Given the description of an element on the screen output the (x, y) to click on. 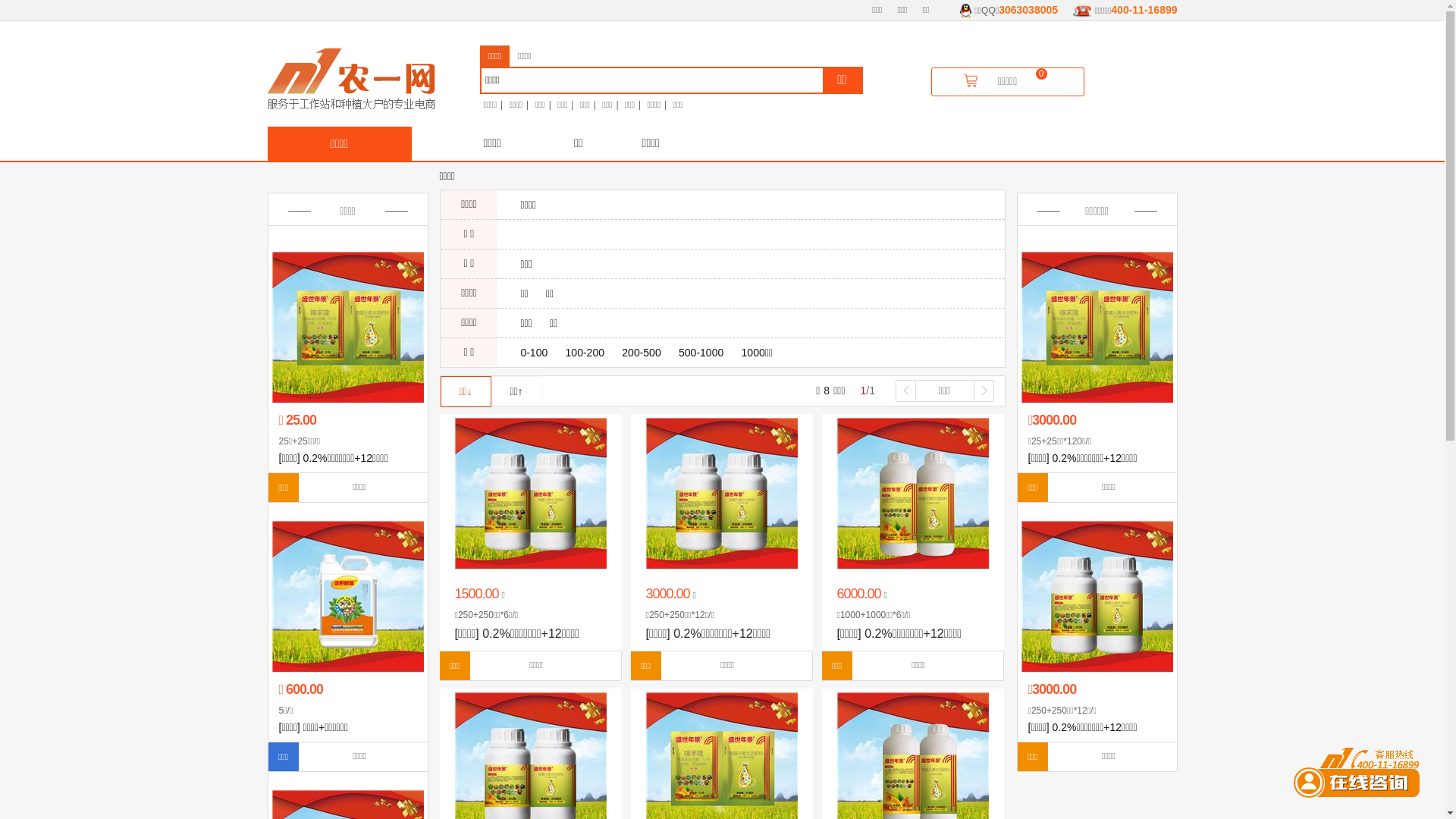
500-1000 Element type: text (700, 352)
0-100 Element type: text (533, 352)
100-200 Element type: text (584, 352)
200-500 Element type: text (641, 352)
